Given the description of an element on the screen output the (x, y) to click on. 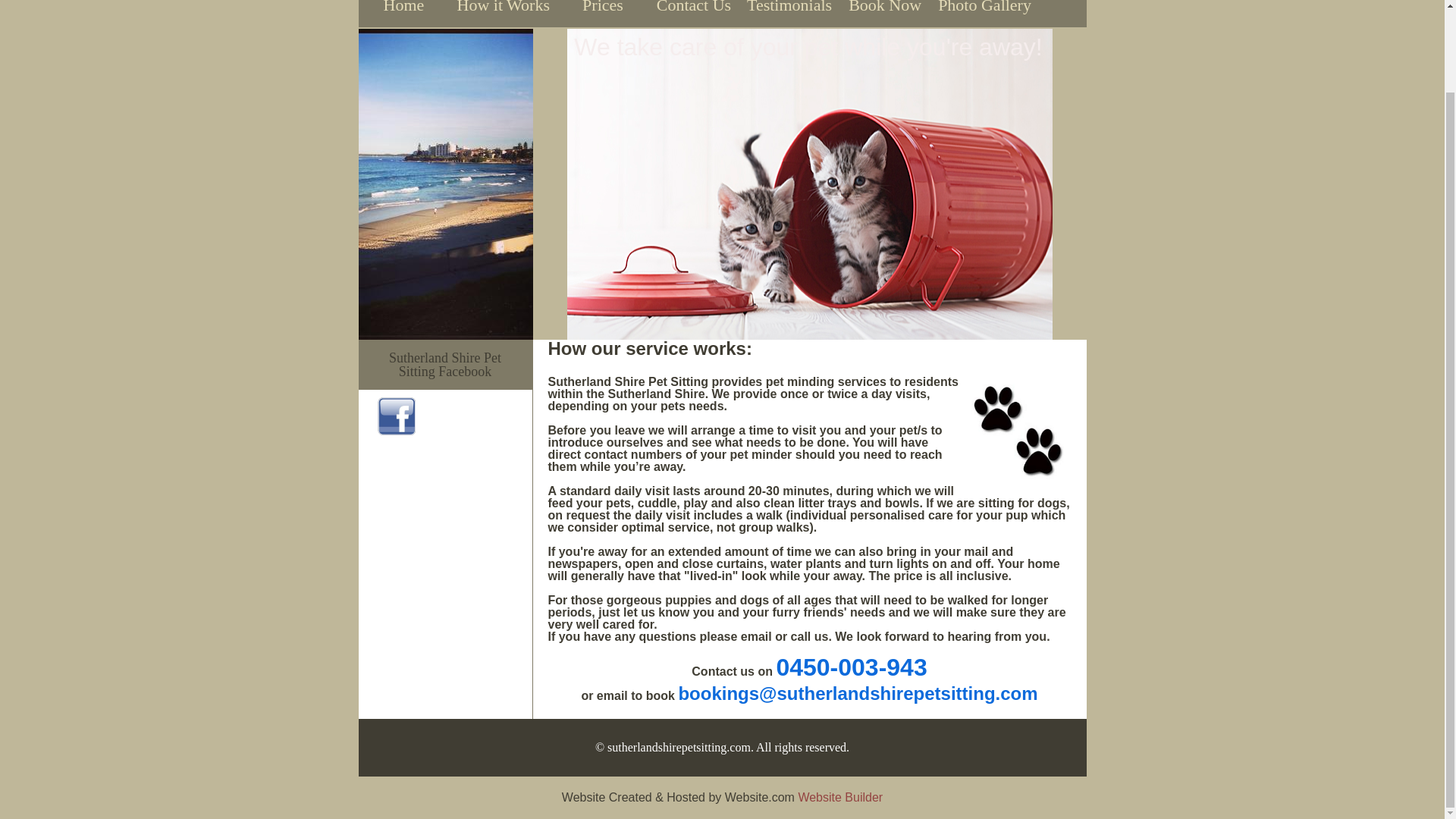
Contact Us (693, 13)
Home (403, 13)
Book Now (885, 13)
Website Builder (839, 797)
Prices (602, 13)
How it Works (502, 13)
Photo Gallery (984, 13)
Testimonials (789, 13)
